Given the description of an element on the screen output the (x, y) to click on. 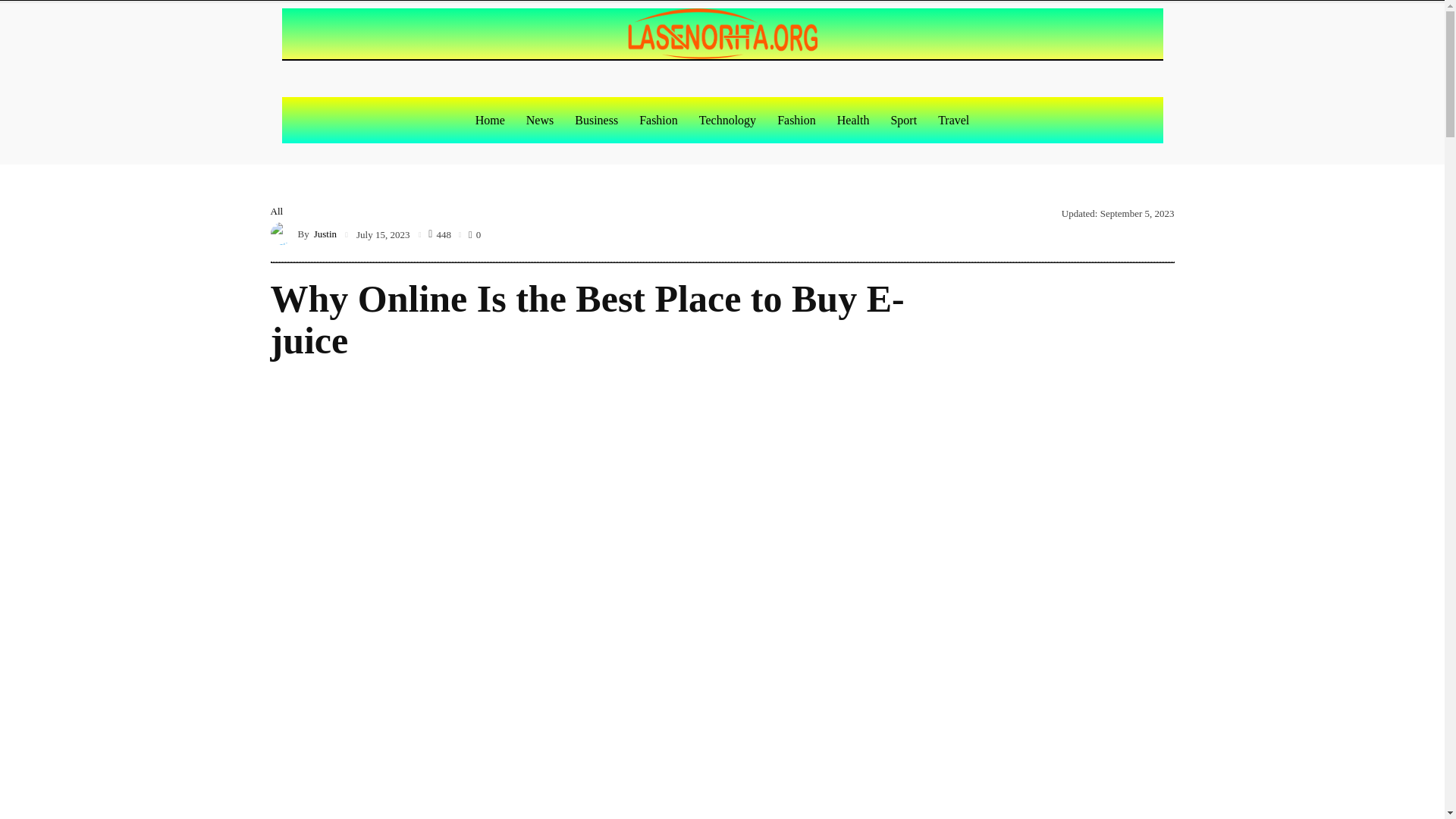
0 (474, 233)
News (539, 120)
Technology (727, 120)
Home (489, 120)
All (275, 211)
Sport (903, 120)
Travel (953, 120)
Justin (283, 232)
Fashion (658, 120)
Fashion (797, 120)
